Given the description of an element on the screen output the (x, y) to click on. 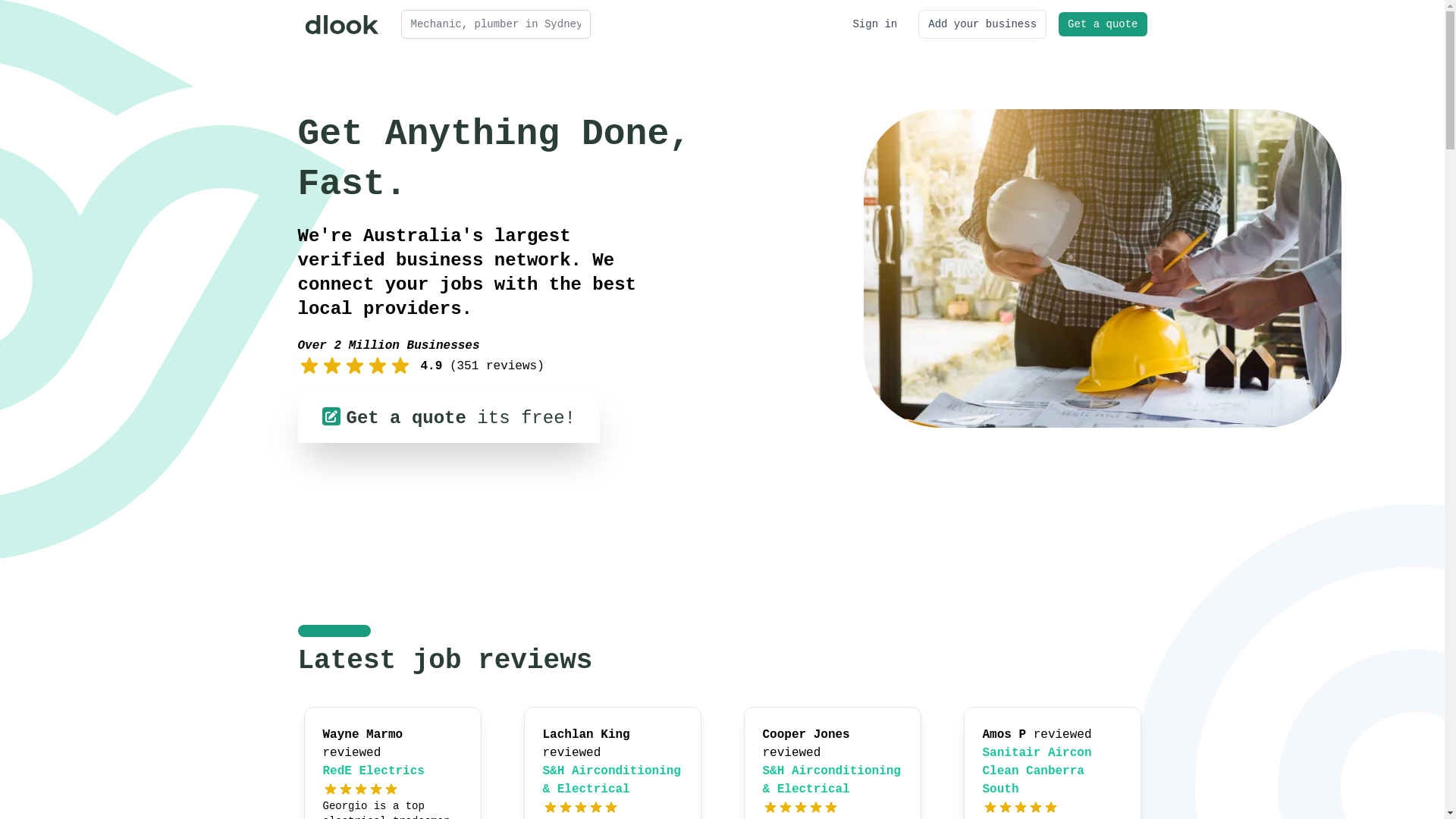
RedE Electrics Element type: text (373, 771)
Get a quote Element type: text (1102, 24)
Get a quote its free! Element type: text (448, 417)
S&H Airconditioning & Electrical Element type: text (611, 780)
S&H Airconditioning & Electrical Element type: text (831, 780)
Sanitair Aircon Clean Canberra South Element type: text (1037, 771)
Sign in Element type: text (874, 23)
Add your business Element type: text (982, 23)
